Given the description of an element on the screen output the (x, y) to click on. 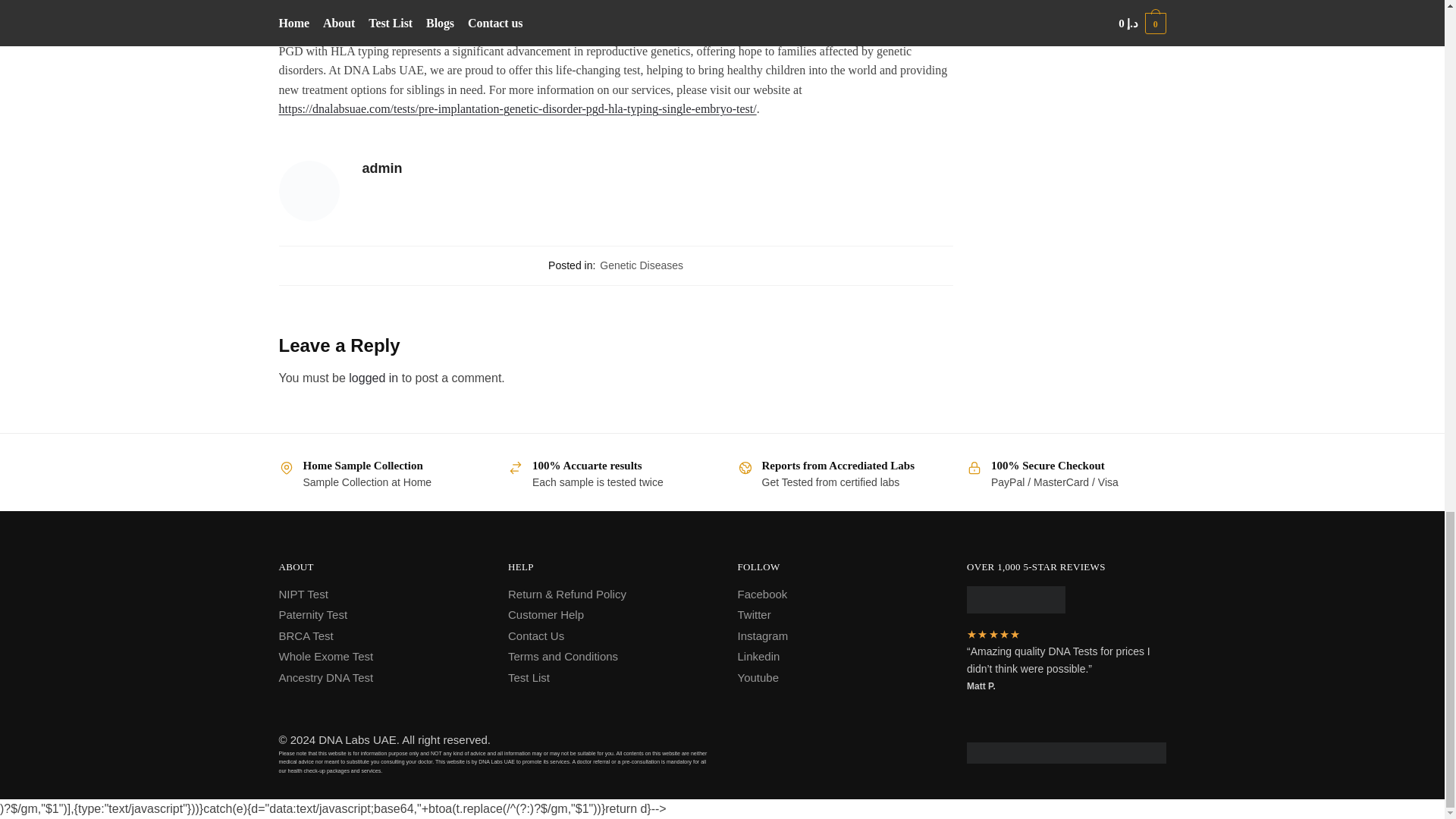
logged in (373, 377)
Genetic Diseases (640, 265)
admin (657, 168)
